Given the description of an element on the screen output the (x, y) to click on. 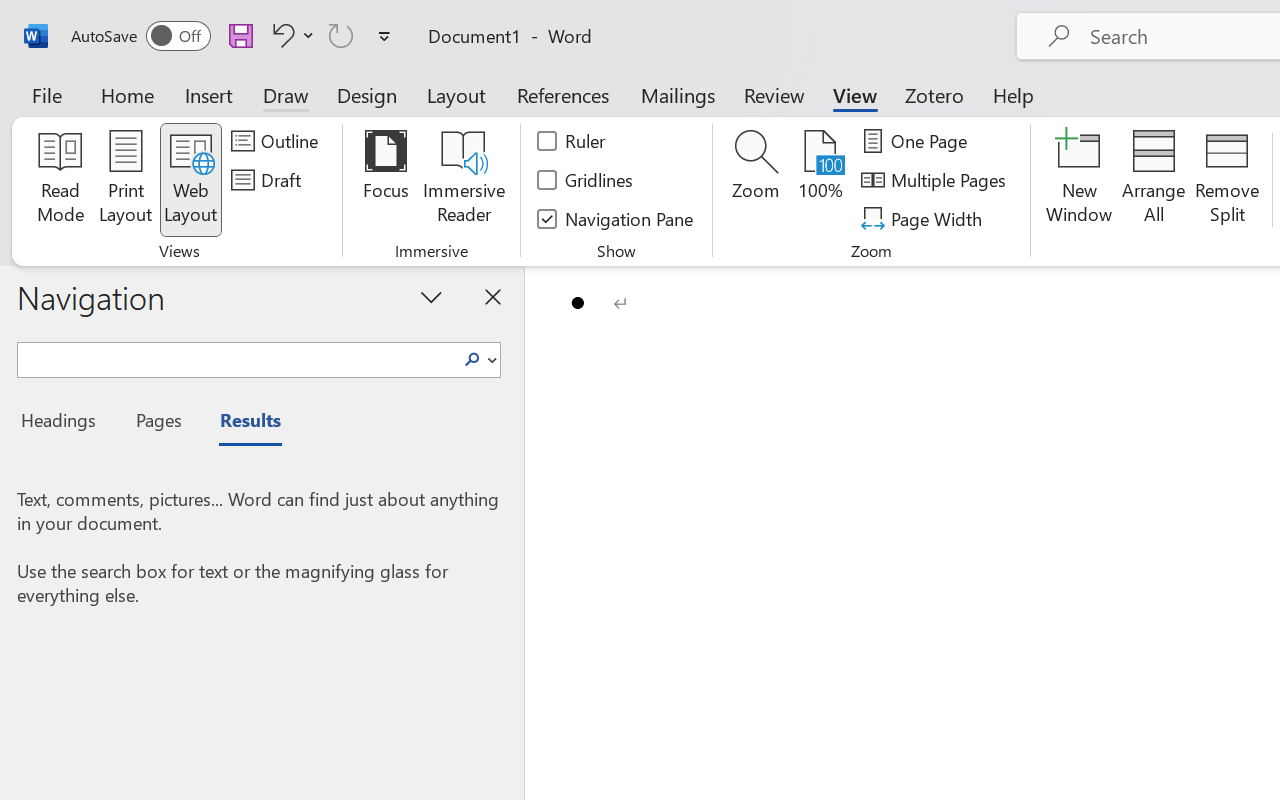
Search document (236, 357)
Pages (156, 423)
